Given the description of an element on the screen output the (x, y) to click on. 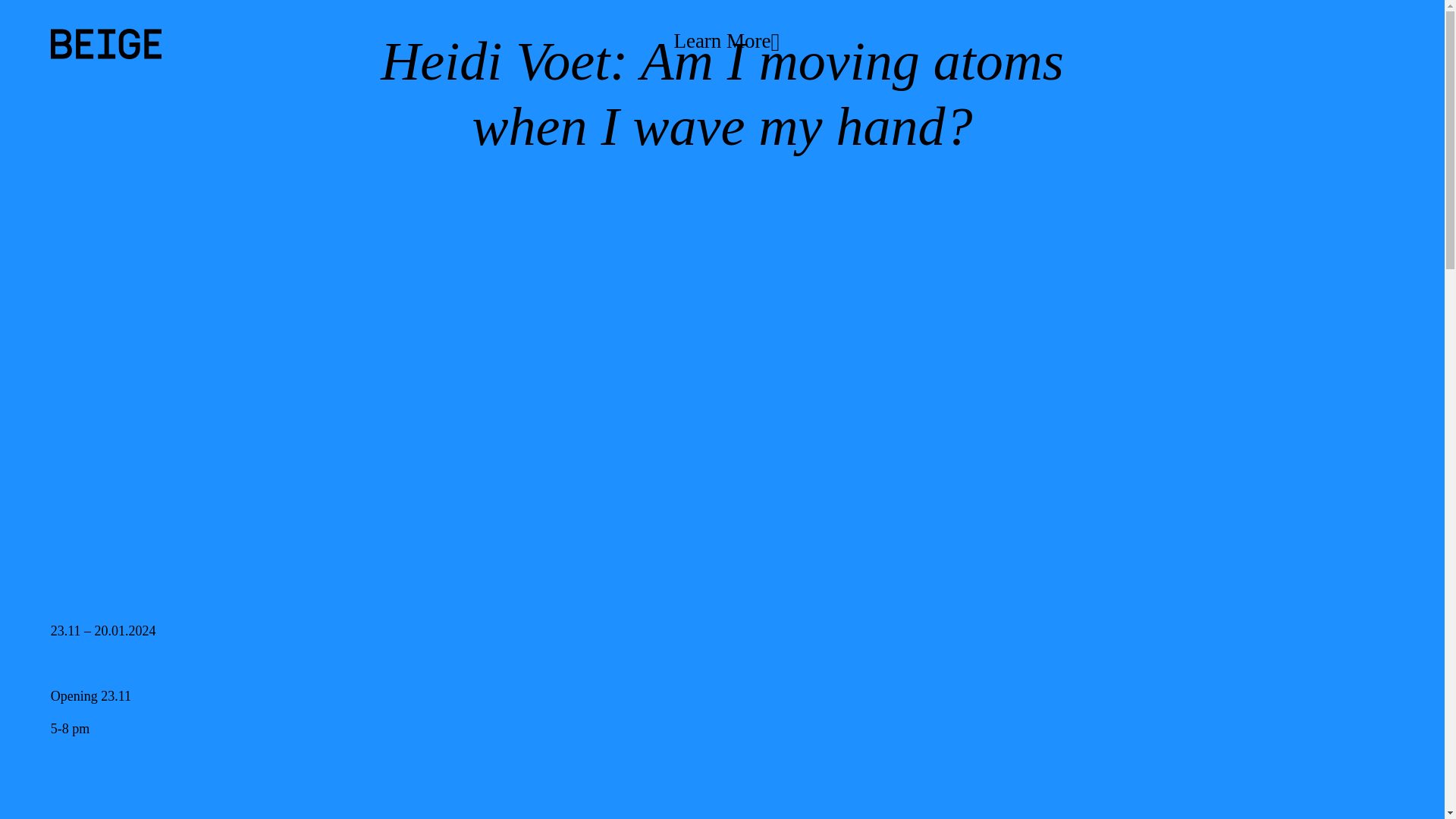
Heidi Voet: Am I moving atoms when I wave my hand? Element type: text (721, 93)
